Given the description of an element on the screen output the (x, y) to click on. 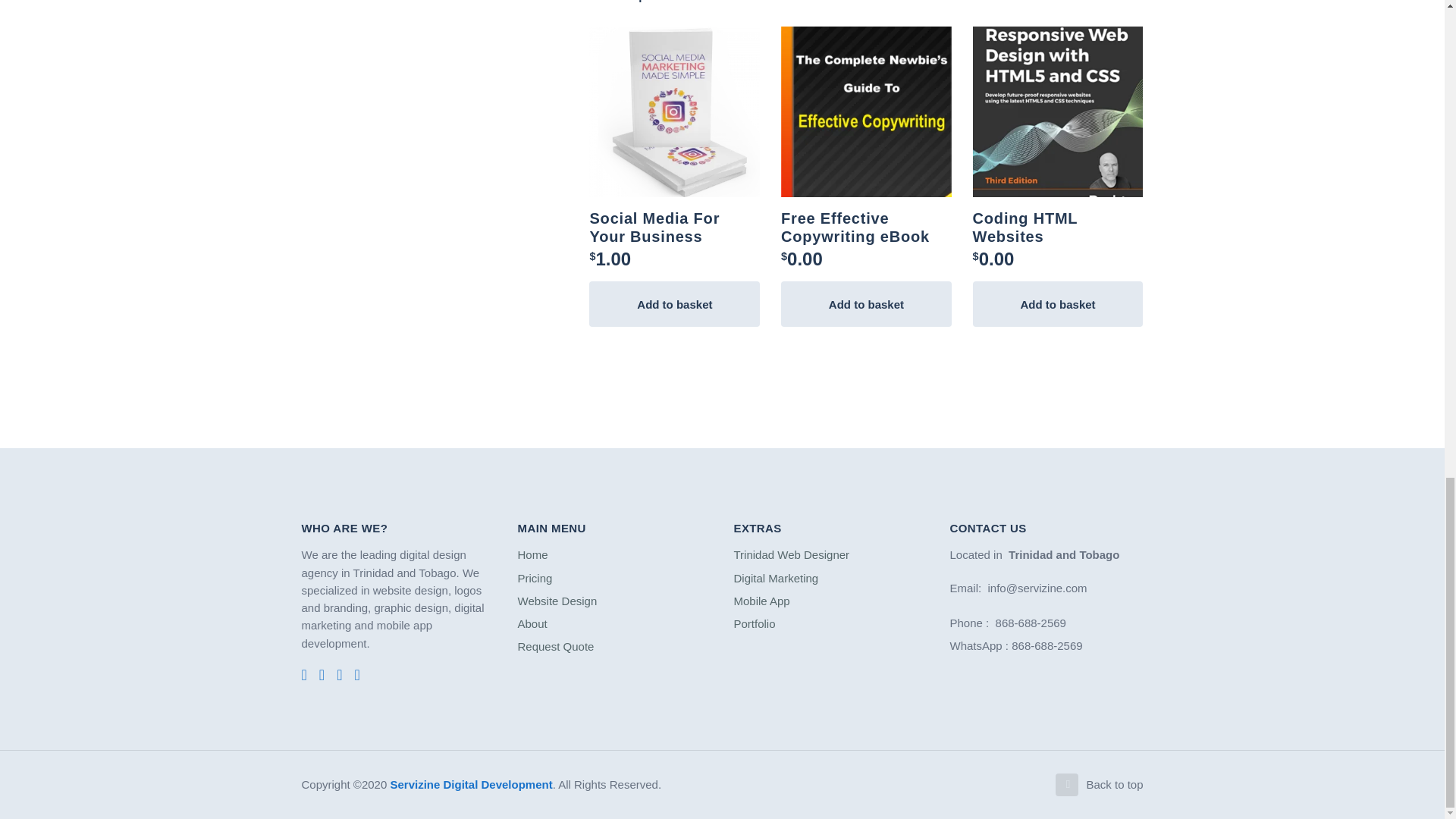
Add to basket (674, 303)
Add to basket (866, 303)
Add to basket (1057, 303)
